Given the description of an element on the screen output the (x, y) to click on. 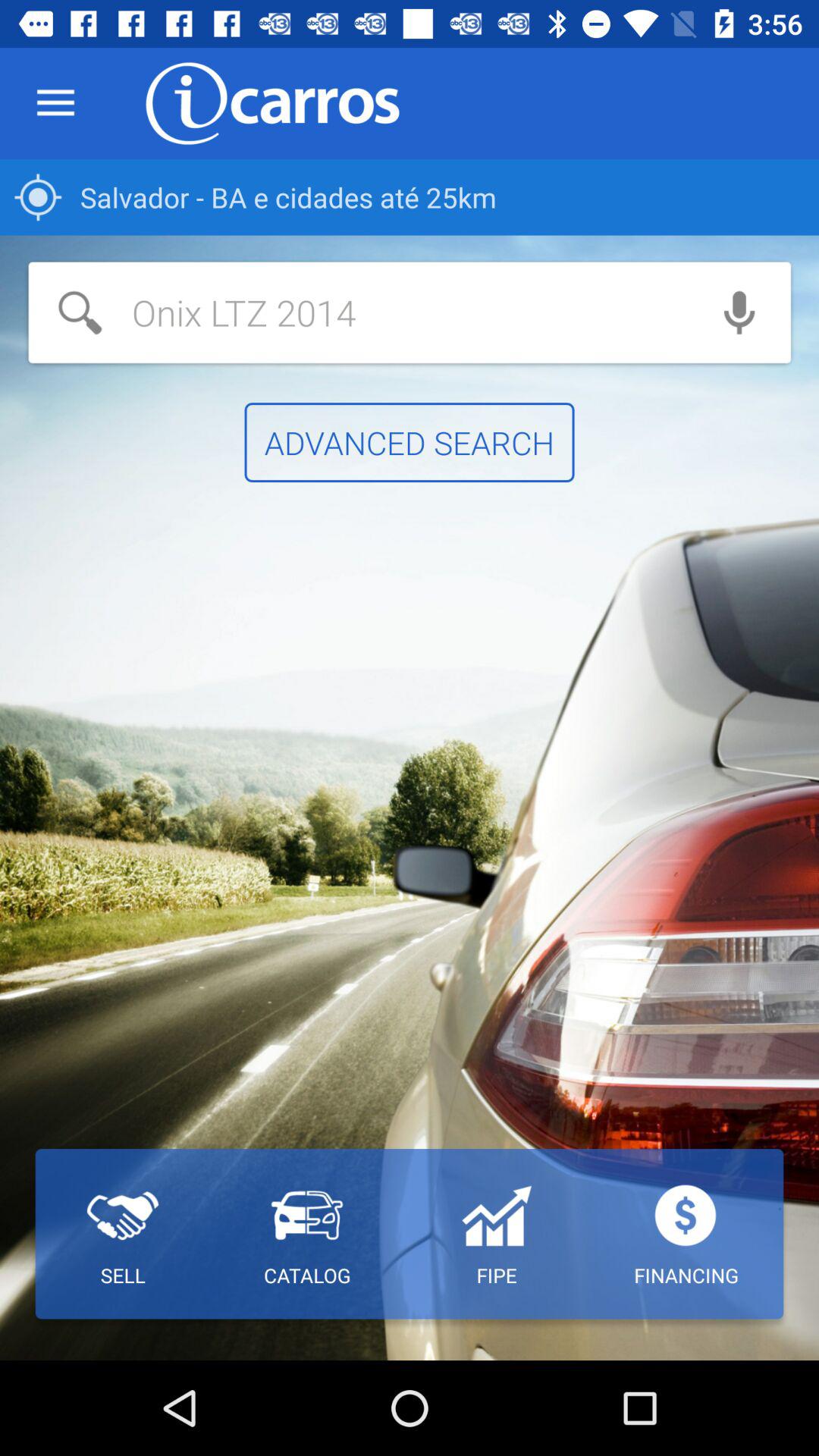
turn off item to the left of the fipe icon (306, 1233)
